Given the description of an element on the screen output the (x, y) to click on. 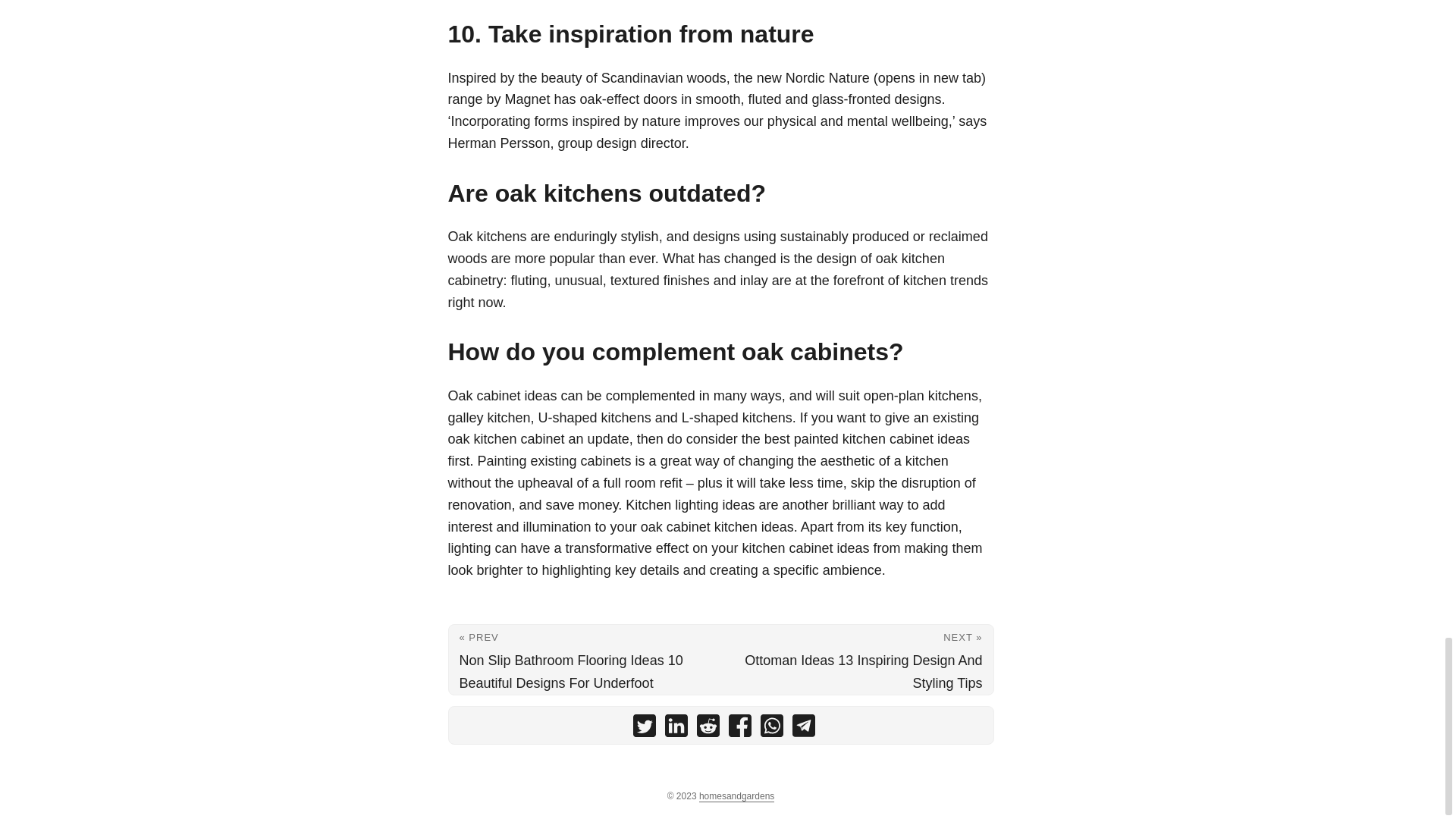
homesandgardens (736, 796)
